Given the description of an element on the screen output the (x, y) to click on. 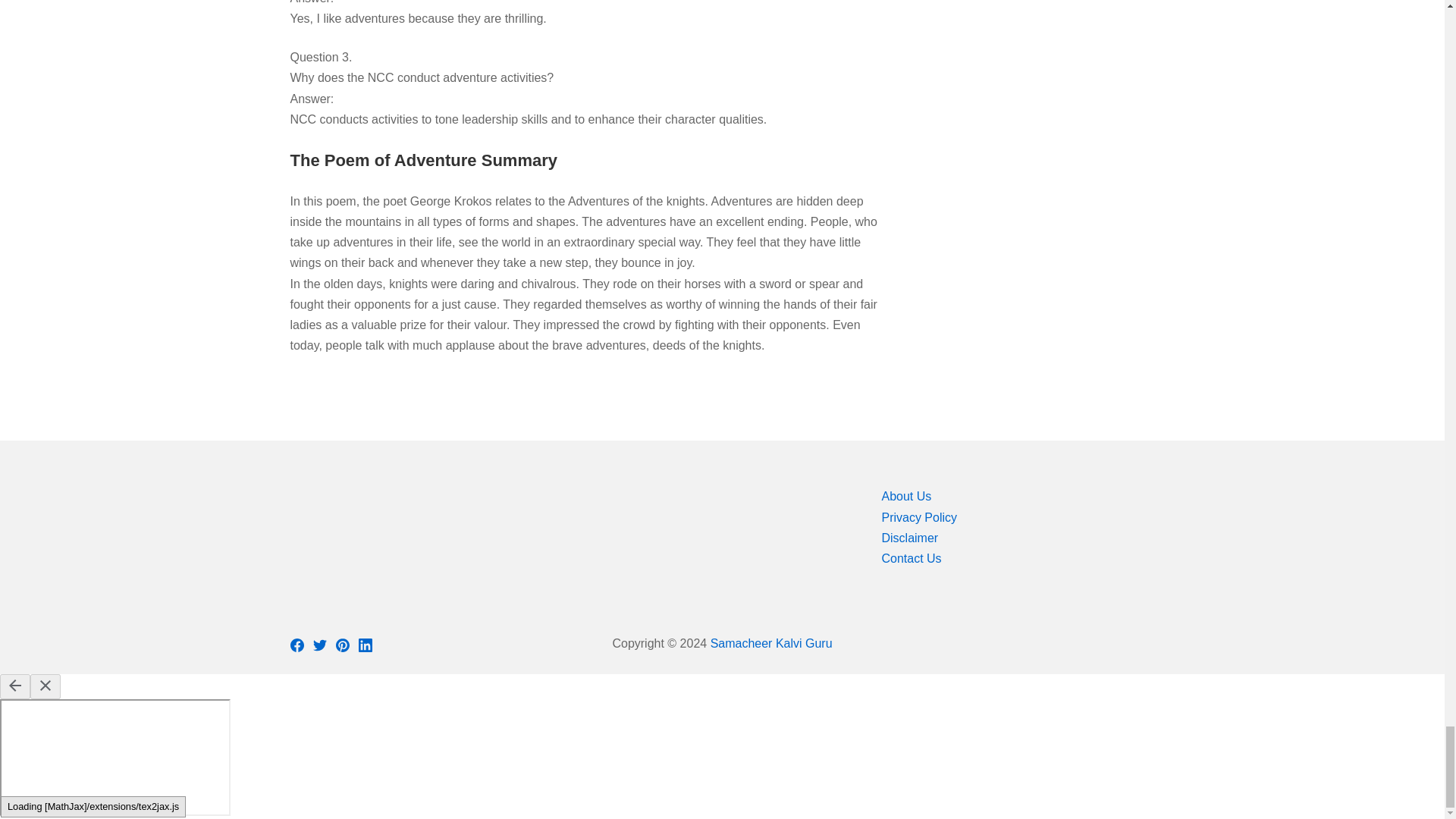
Facebook (295, 644)
Twitter icon (319, 644)
Privacy Policy (364, 644)
Disclaimer (918, 517)
LinkedIn (908, 537)
Contact Us (341, 644)
About Us (364, 644)
Pinterest (910, 558)
Facebook (905, 495)
Twitter (341, 644)
Pinterest icon (295, 644)
LinkedIn icon (319, 644)
